Given the description of an element on the screen output the (x, y) to click on. 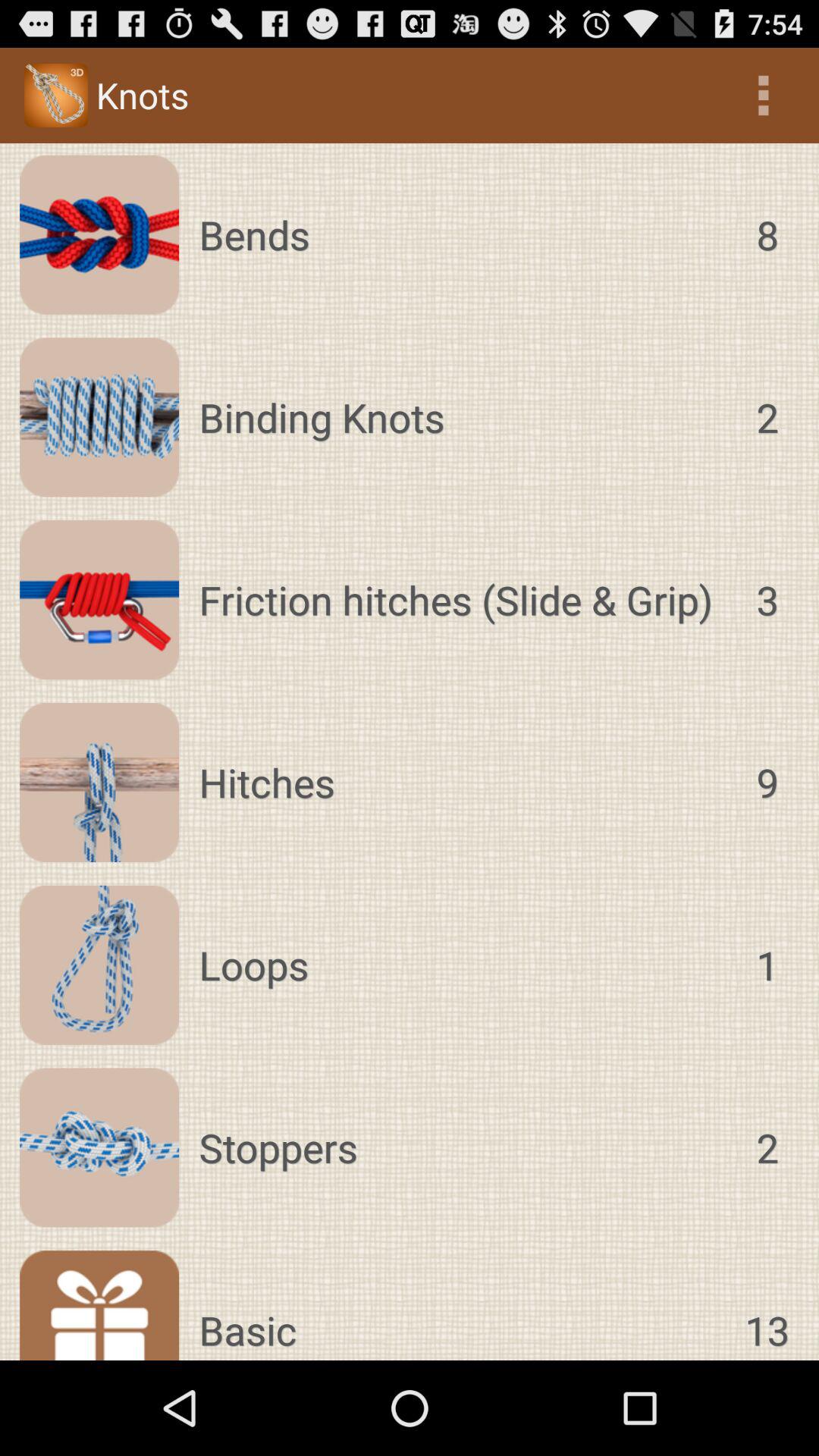
launch the app next to the hitches app (767, 782)
